Given the description of an element on the screen output the (x, y) to click on. 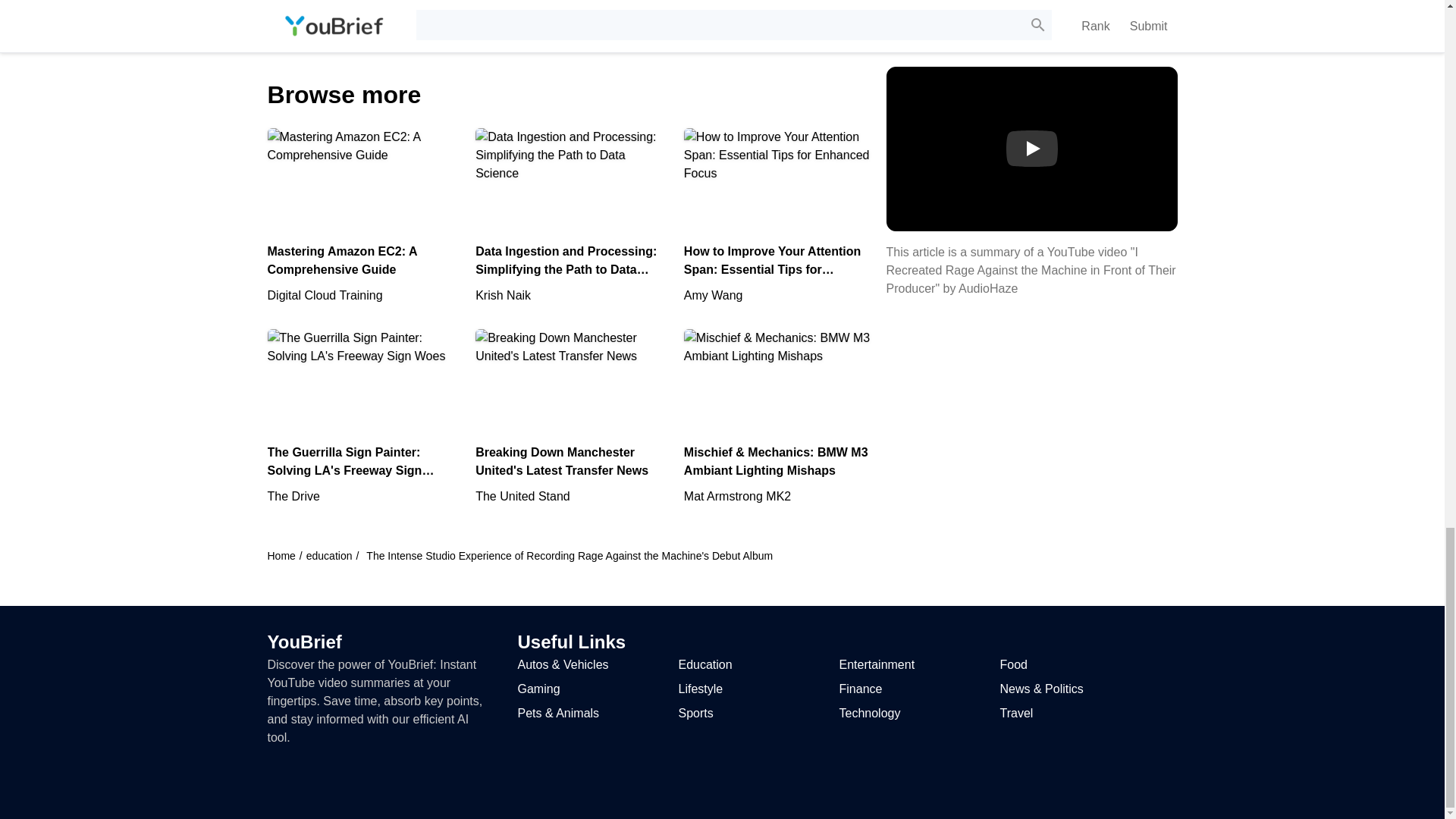
YouBrief (303, 641)
education (328, 555)
Food (1012, 664)
Technology (868, 712)
Sports (695, 712)
Lifestyle (700, 688)
Mastering Amazon EC2: A Comprehensive Guide (362, 215)
Education (705, 664)
Travel (1015, 712)
Finance (860, 688)
Home (280, 555)
